Given the description of an element on the screen output the (x, y) to click on. 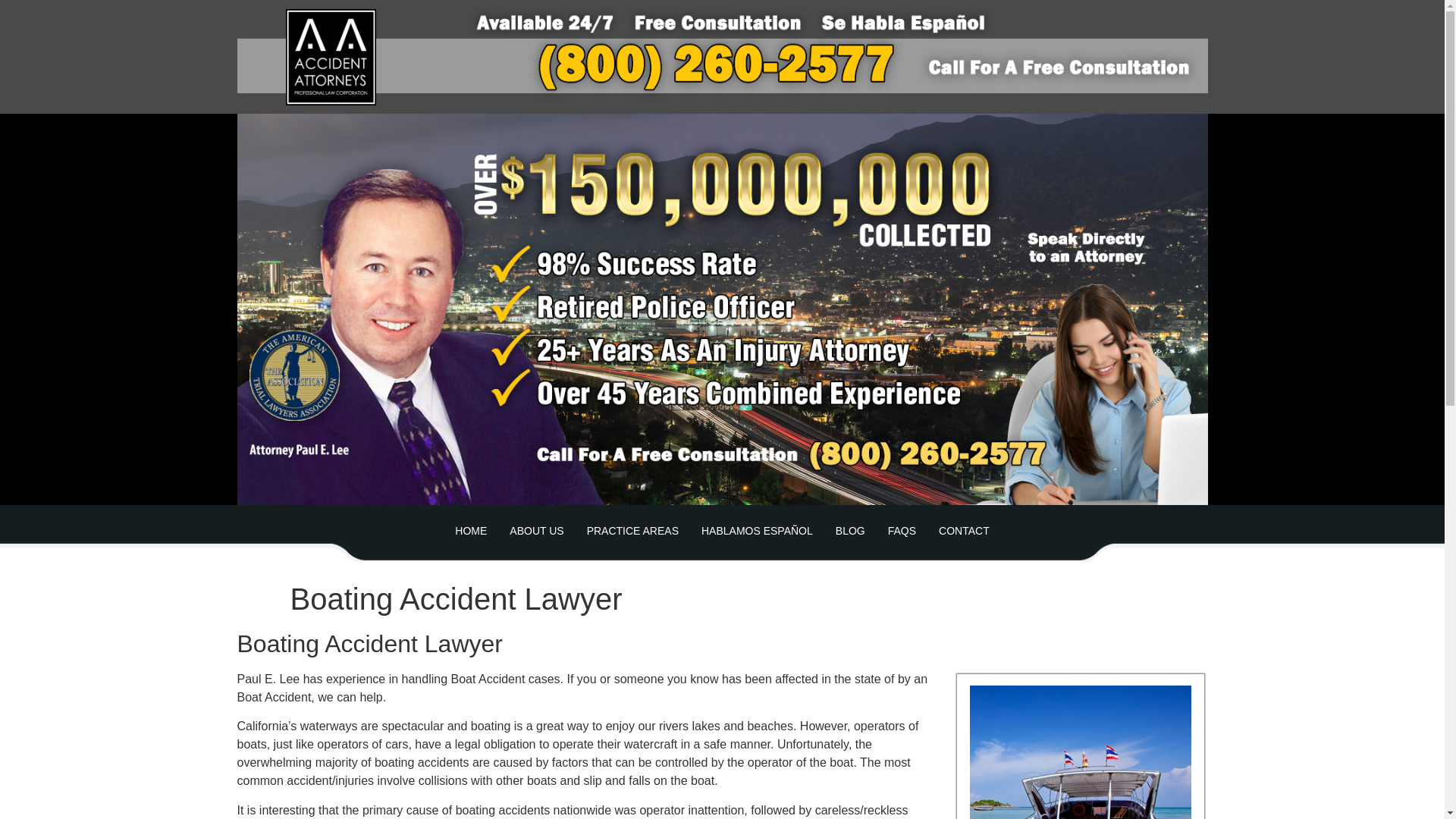
ABOUT US (536, 531)
CONTACT (964, 531)
HOME (470, 531)
PRACTICE AREAS (632, 531)
BLOG (850, 531)
FAQS (901, 531)
